Given the description of an element on the screen output the (x, y) to click on. 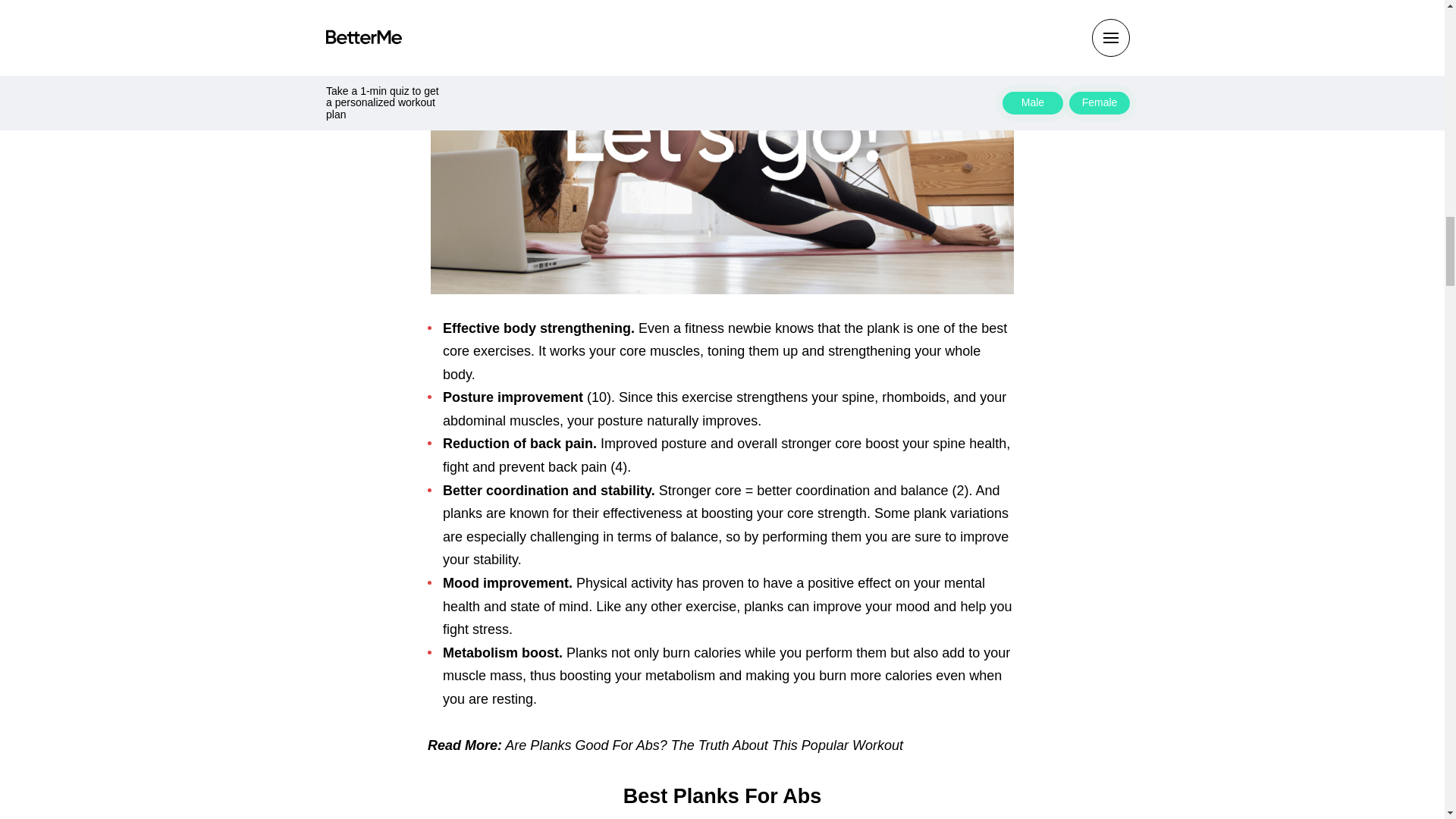
10 (599, 396)
prevent back pain (551, 467)
burn calories while you perform (755, 652)
